Given the description of an element on the screen output the (x, y) to click on. 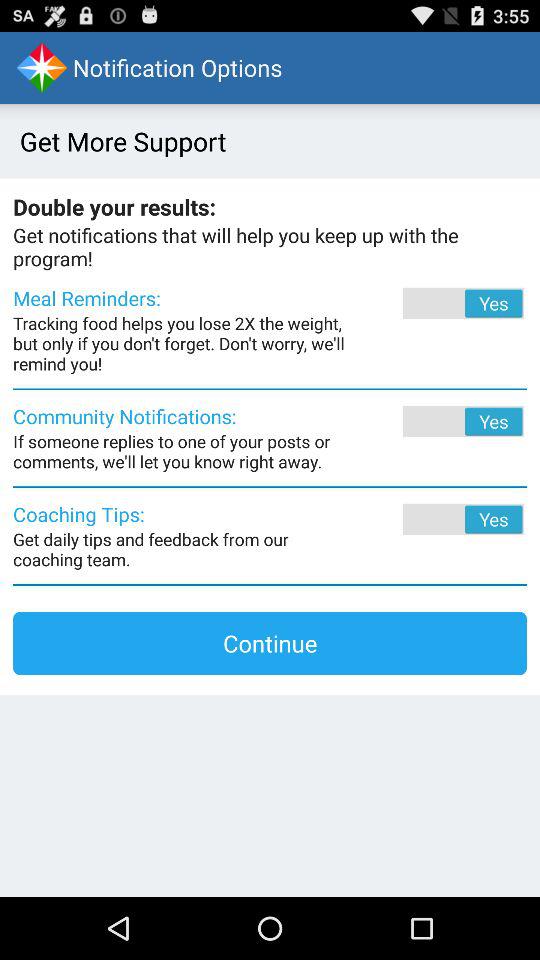
button where you activate notifications (436, 421)
